Given the description of an element on the screen output the (x, y) to click on. 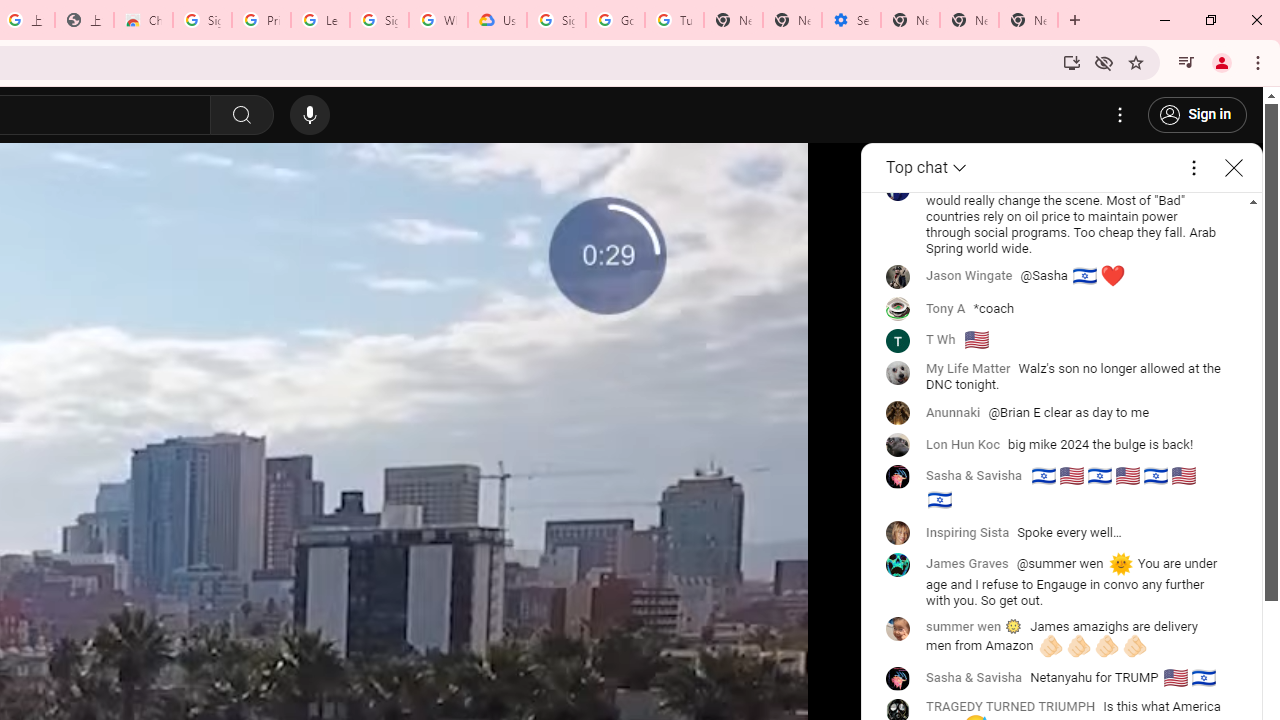
Chrome Web Store (142, 20)
Install YouTube (1071, 62)
Who are Google's partners? - Privacy and conditions - Google (438, 20)
New Tab (909, 20)
Live Chat mode selection (928, 168)
Sign in - Google Accounts (201, 20)
Google Account Help (615, 20)
Turn cookies on or off - Computer - Google Account Help (674, 20)
